Given the description of an element on the screen output the (x, y) to click on. 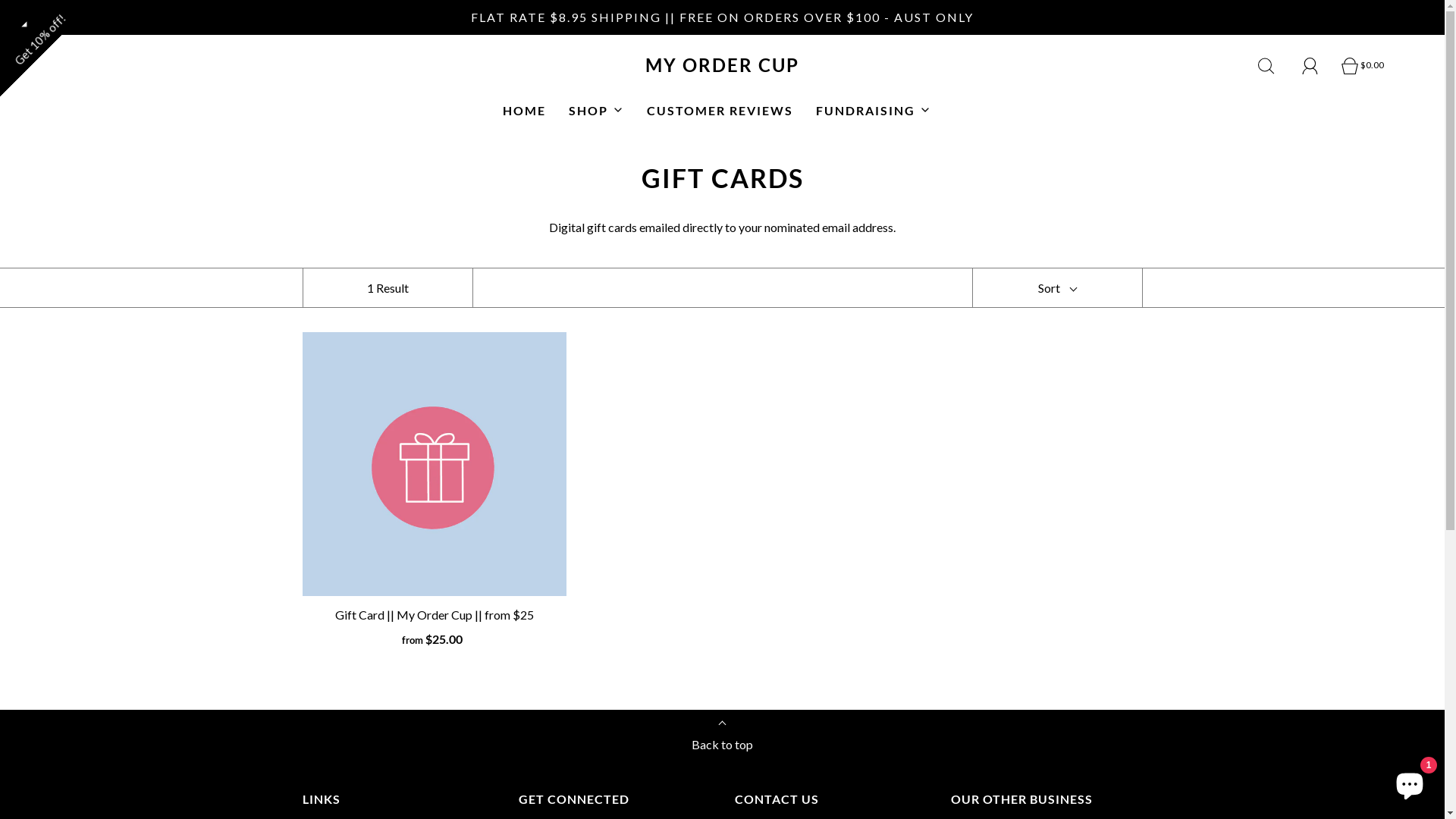
Shopify online store chat Element type: hover (1409, 780)
Sort Element type: text (1056, 287)
FUNDRAISING Element type: text (873, 110)
Gift Card || My Order Cup || from $25
from $25.00 Element type: text (434, 627)
Log in Element type: hover (1310, 65)
HOME Element type: text (523, 110)
MY ORDER CUP Element type: text (722, 65)
Back to top Element type: text (722, 739)
CUSTOMER REVIEWS Element type: text (719, 110)
Search Element type: hover (1266, 65)
$0.00 Element type: text (1362, 65)
SHOP Element type: text (596, 110)
